Given the description of an element on the screen output the (x, y) to click on. 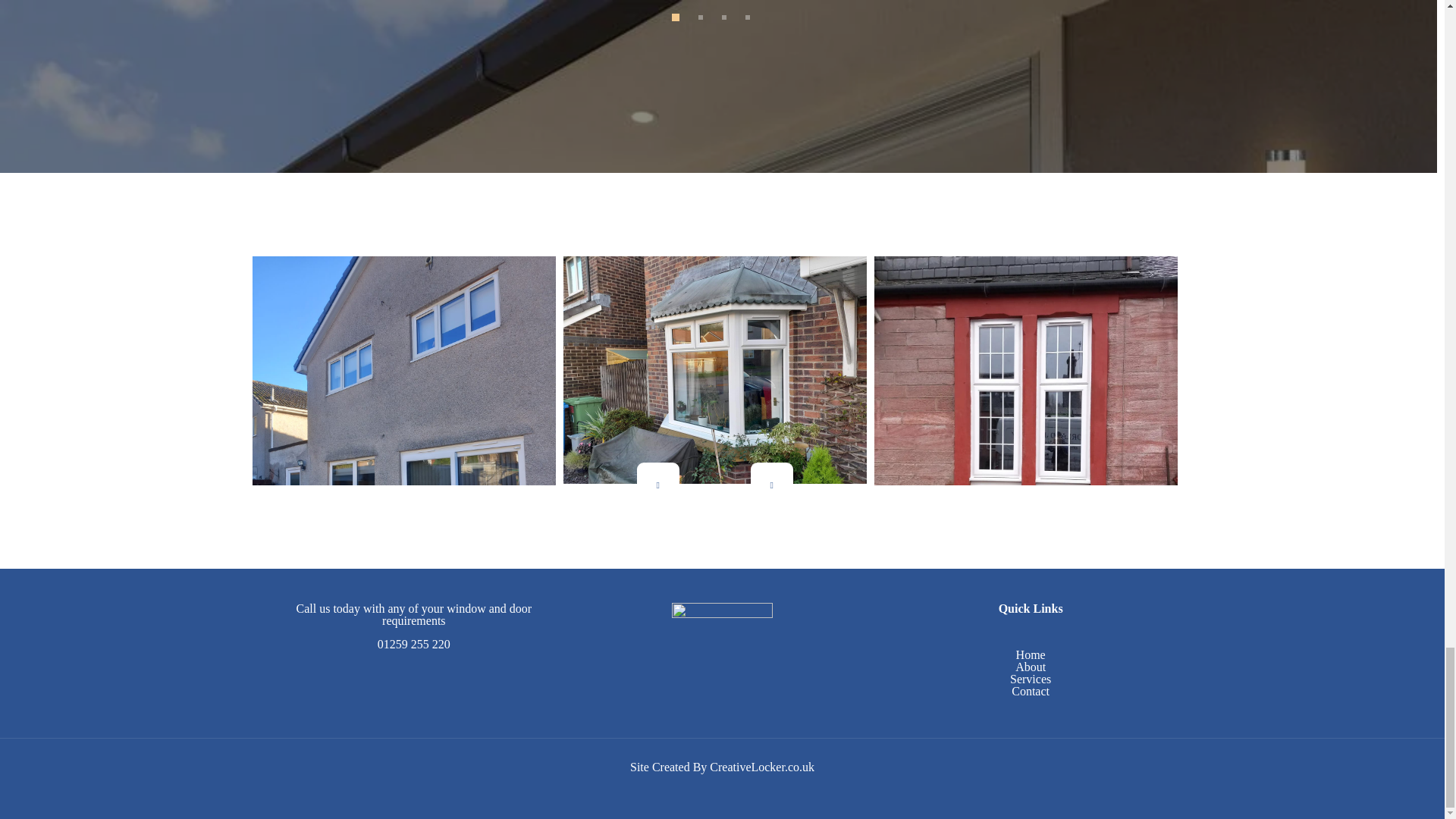
About (1029, 666)
Home (1030, 654)
CreativeLocker.co.uk (761, 766)
1 (675, 17)
Services (1030, 678)
01259 255 220 (413, 644)
Contact (1030, 690)
